Given the description of an element on the screen output the (x, y) to click on. 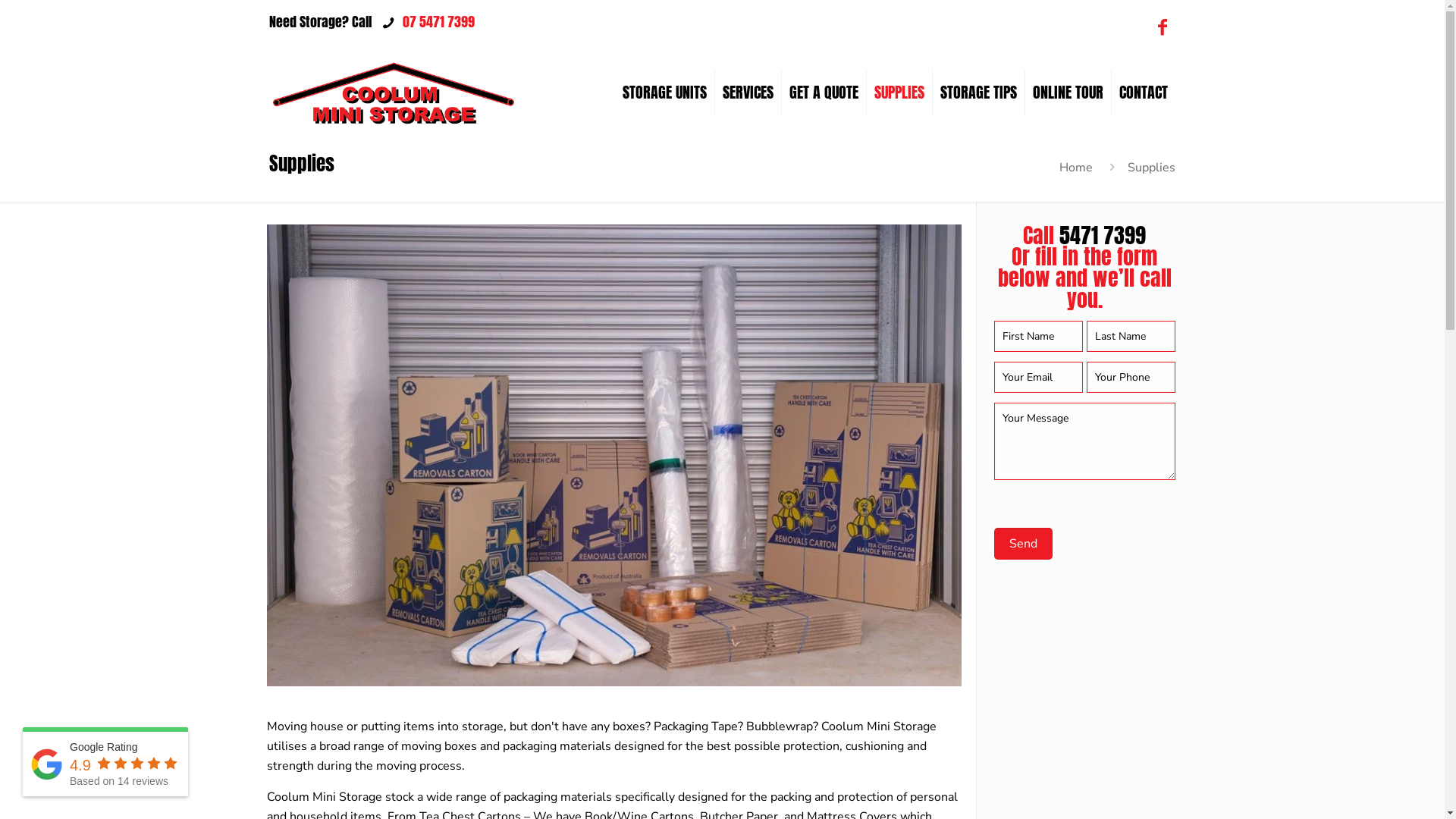
CONTACT Element type: text (1143, 92)
Facebook Element type: hover (1163, 27)
ONLINE TOUR Element type: text (1068, 92)
Coolum Mini Storage Element type: hover (393, 92)
STORAGE UNITS Element type: text (665, 92)
07 5471 7399 Element type: text (438, 21)
Home Element type: text (1075, 167)
SUPPLIES Element type: text (899, 92)
SERVICES Element type: text (748, 92)
STORAGE TIPS Element type: text (978, 92)
5471 7399 Element type: text (1102, 235)
GET A QUOTE Element type: text (823, 92)
Send Element type: text (1023, 543)
